Given the description of an element on the screen output the (x, y) to click on. 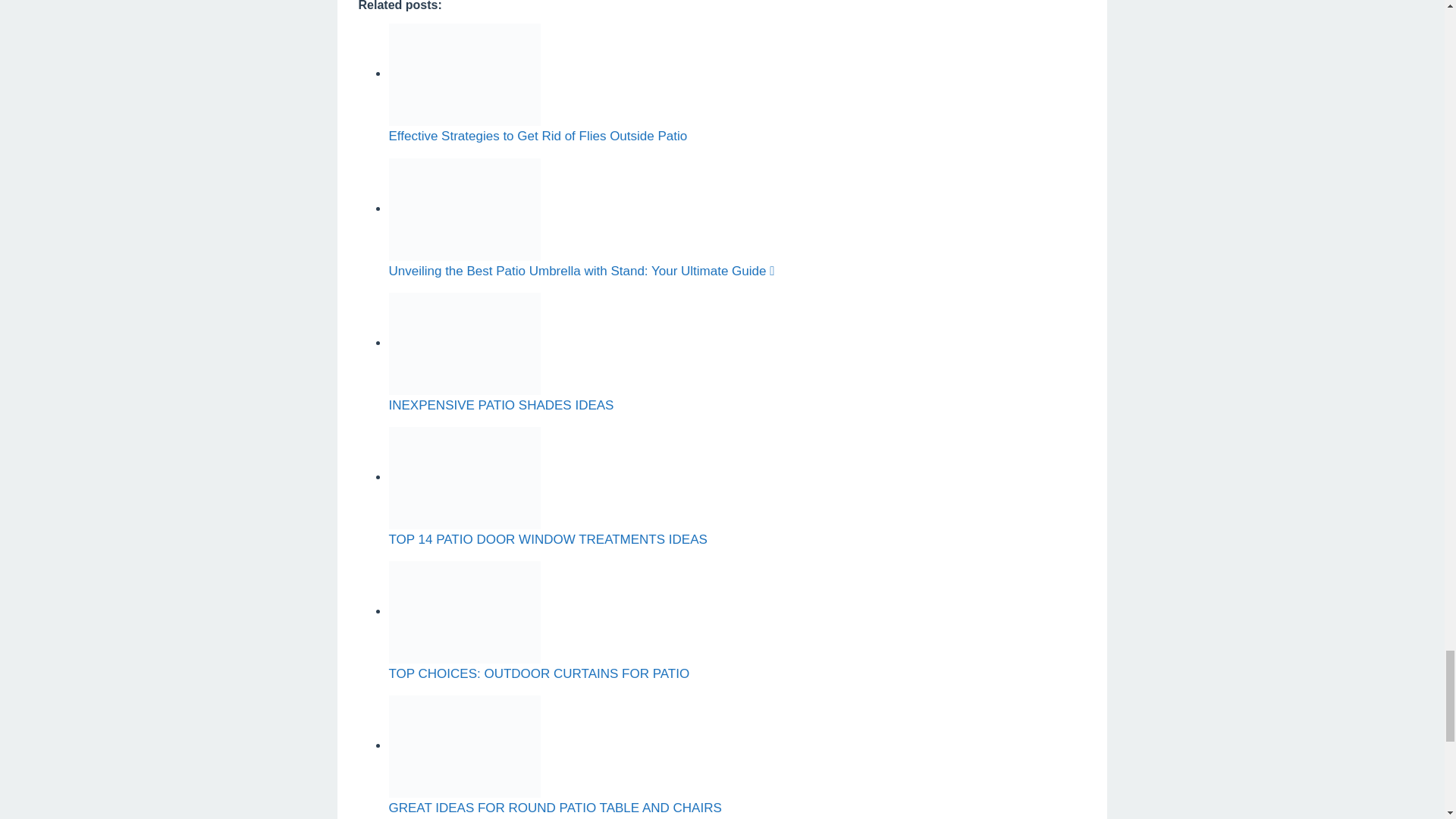
TOP 14 PATIO DOOR WINDOW TREATMENTS IDEAS (547, 539)
TOP CHOICES: OUTDOOR CURTAINS FOR PATIO (538, 673)
Effective Strategies to Get Rid of Flies Outside Patio (537, 135)
GREAT IDEAS FOR ROUND PATIO TABLE AND CHAIRS (554, 807)
INEXPENSIVE PATIO SHADES IDEAS (500, 405)
